Given the description of an element on the screen output the (x, y) to click on. 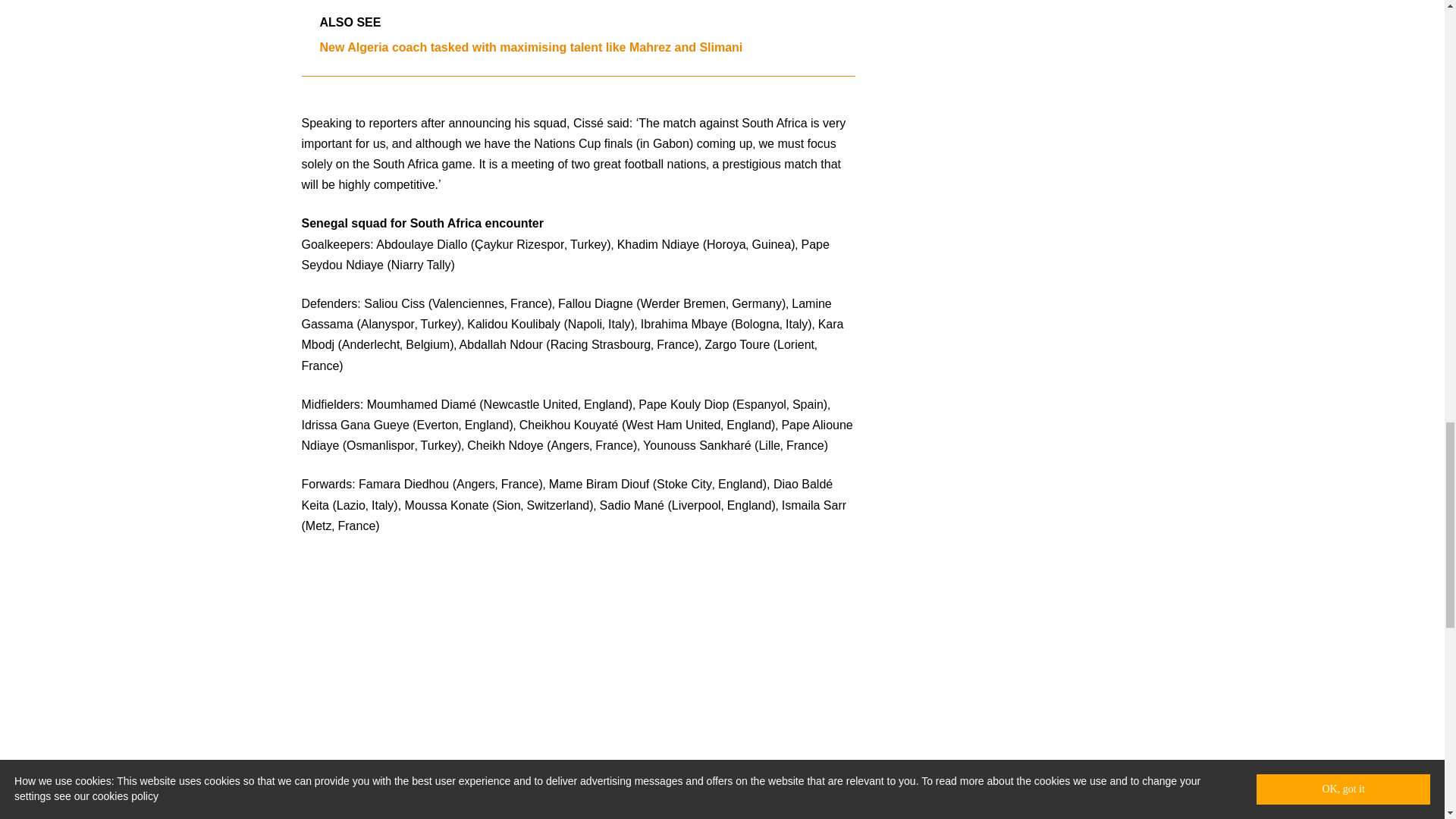
3rd party ad content (722, 735)
